Given the description of an element on the screen output the (x, y) to click on. 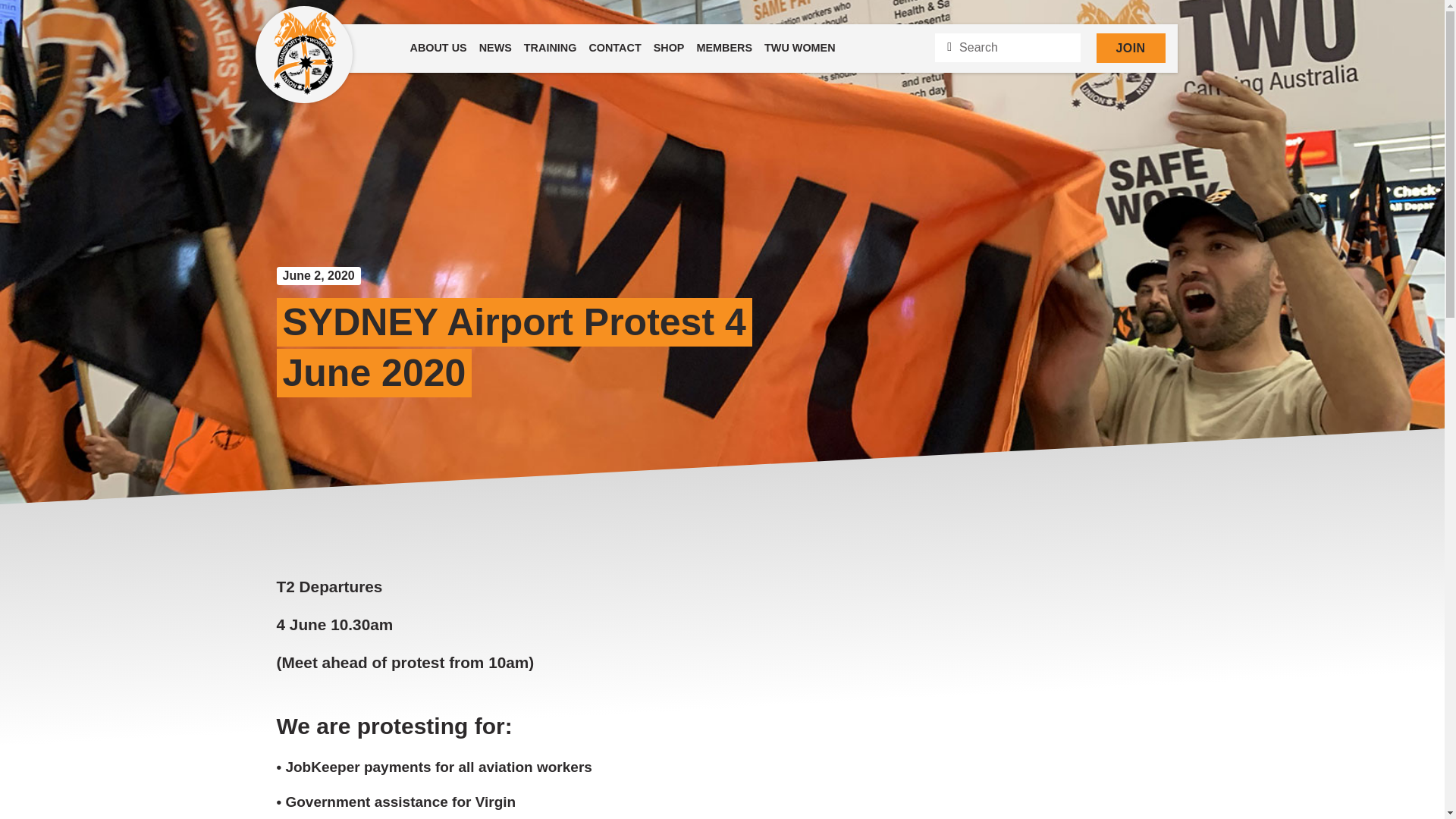
TRAINING (550, 48)
CONTACT (614, 48)
MEMBERS (724, 48)
JOIN (1131, 48)
ABOUT US (437, 48)
SHOP (668, 48)
NEWS (495, 48)
TWU WOMEN (799, 48)
